Given the description of an element on the screen output the (x, y) to click on. 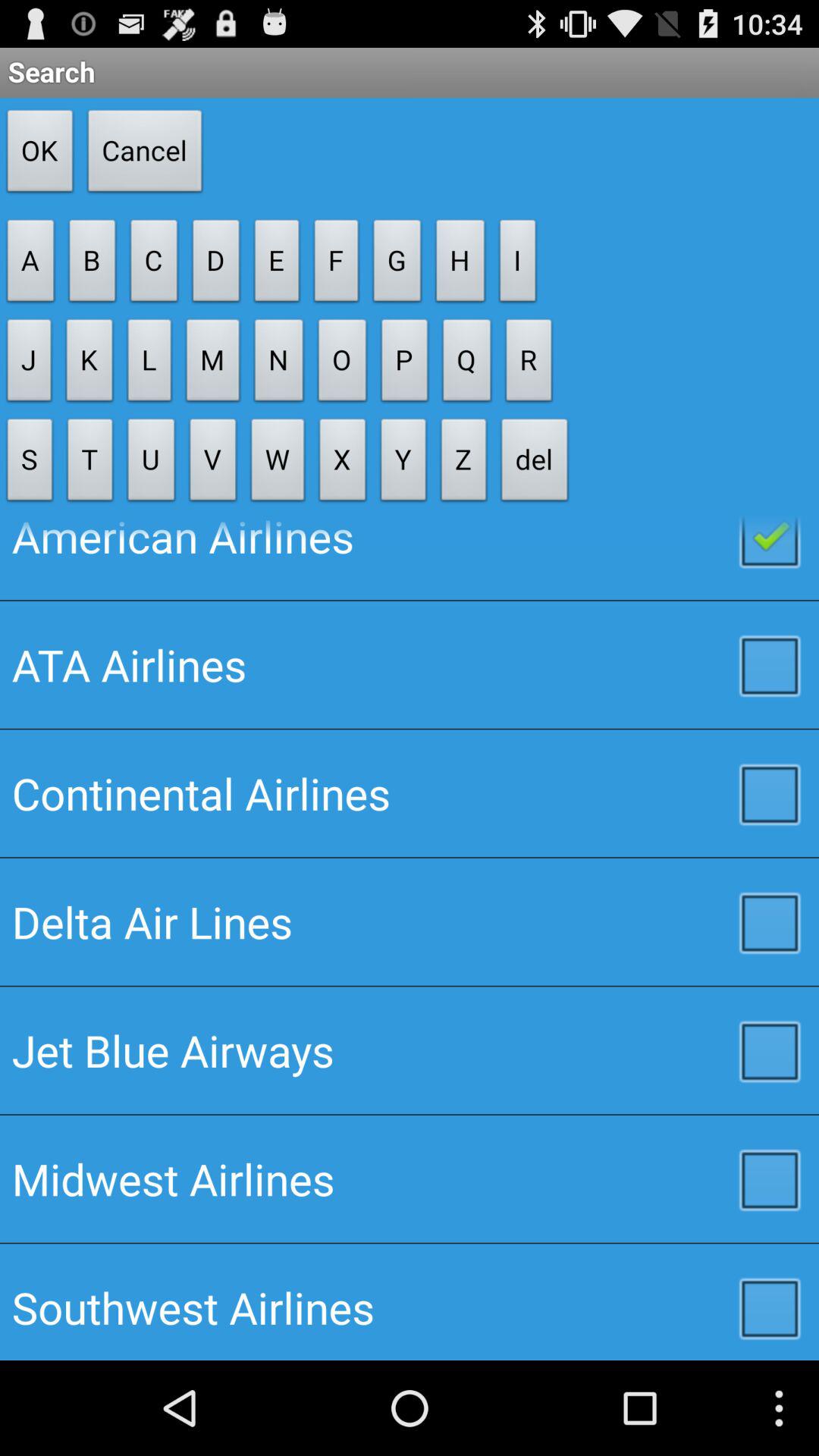
flip until the american airlines checkbox (409, 557)
